Given the description of an element on the screen output the (x, y) to click on. 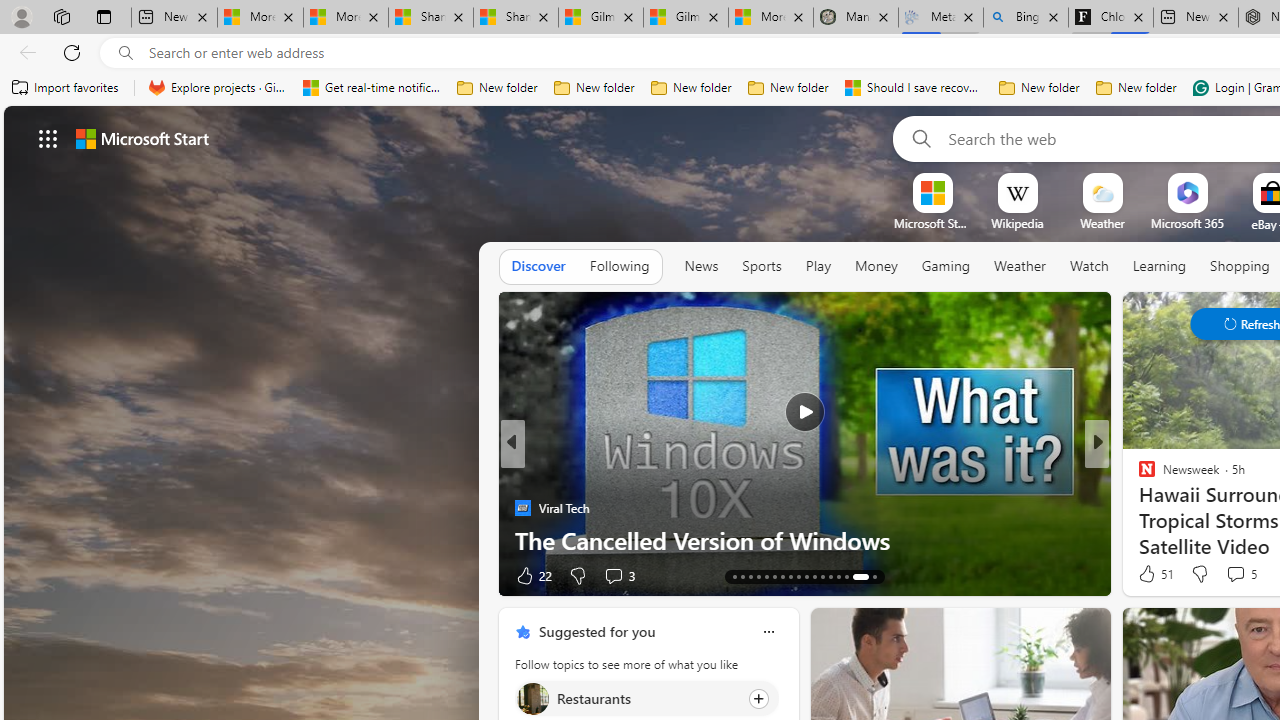
AutomationID: tab-21 (765, 576)
AutomationID: tab-25 (797, 576)
